Given the description of an element on the screen output the (x, y) to click on. 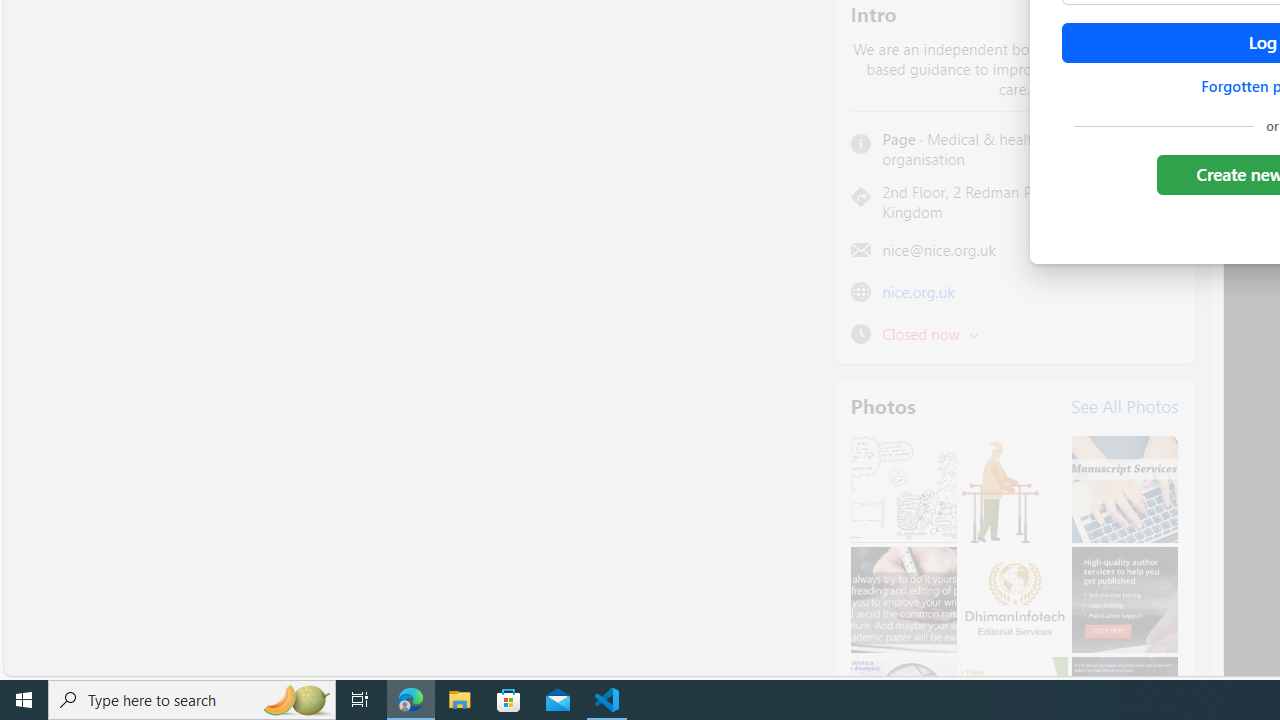
Type here to search (191, 699)
Start (24, 699)
Search highlights icon opens search home window (295, 699)
File Explorer (460, 699)
Microsoft Store (509, 699)
Microsoft Edge - 1 running window (411, 699)
Visual Studio Code - 1 running window (607, 699)
Task View (359, 699)
